Given the description of an element on the screen output the (x, y) to click on. 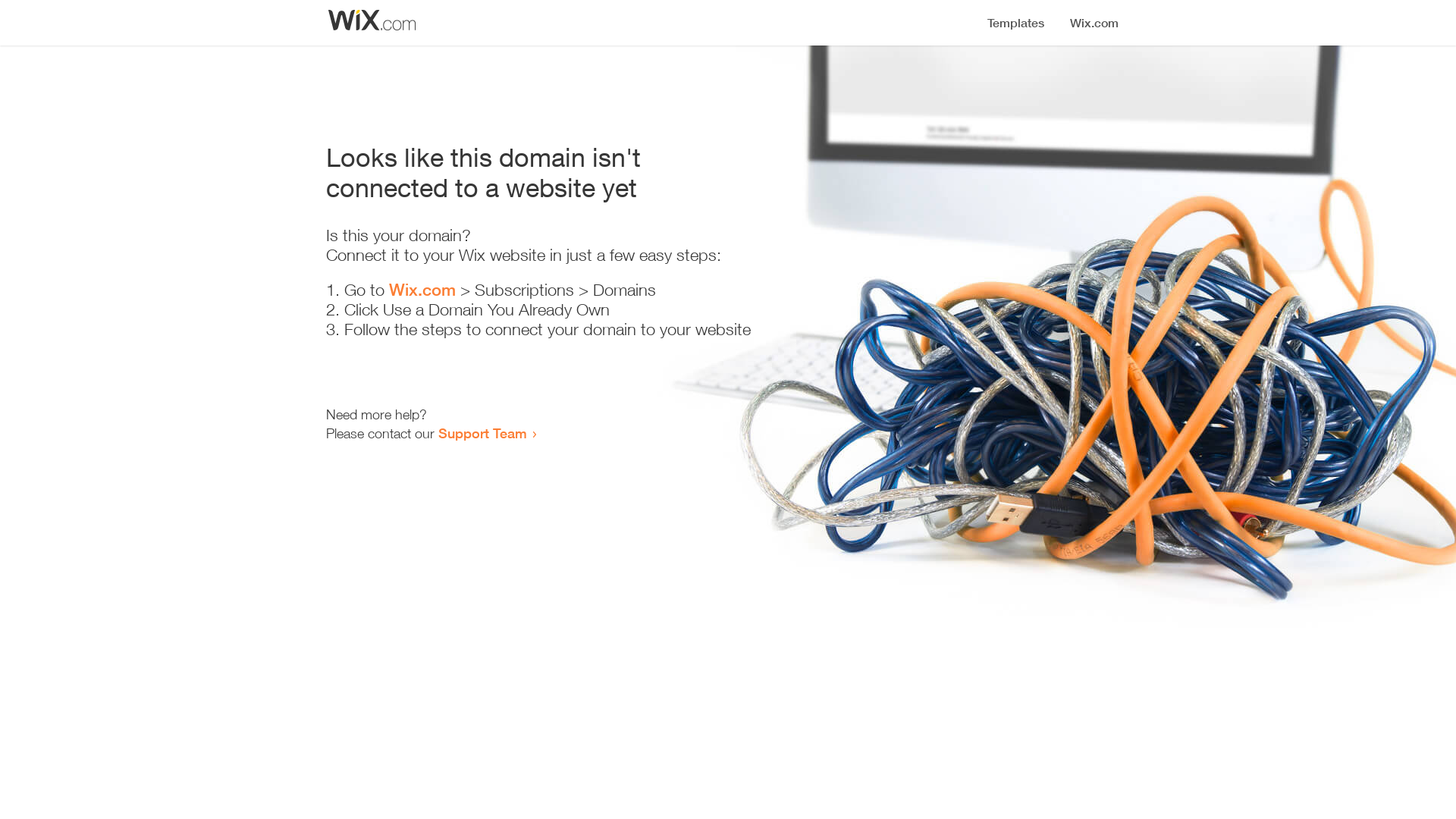
Wix.com Element type: text (422, 289)
Support Team Element type: text (482, 432)
